Given the description of an element on the screen output the (x, y) to click on. 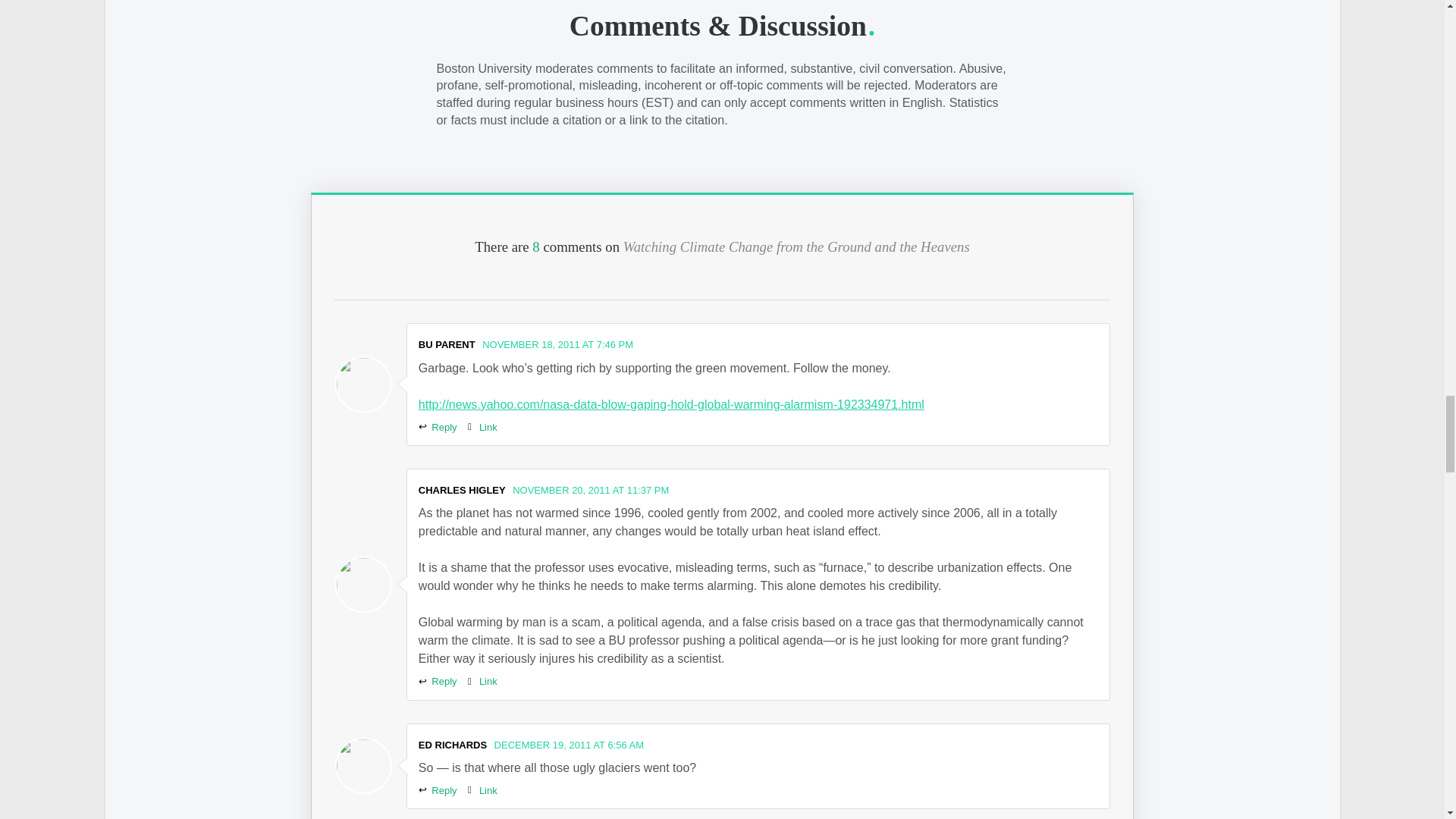
NOVEMBER 20, 2011 AT 11:37 PM (590, 490)
Reply (438, 681)
NOVEMBER 18, 2011 AT 7:46 PM (557, 344)
Link (482, 427)
Link (482, 681)
Reply (438, 427)
